Given the description of an element on the screen output the (x, y) to click on. 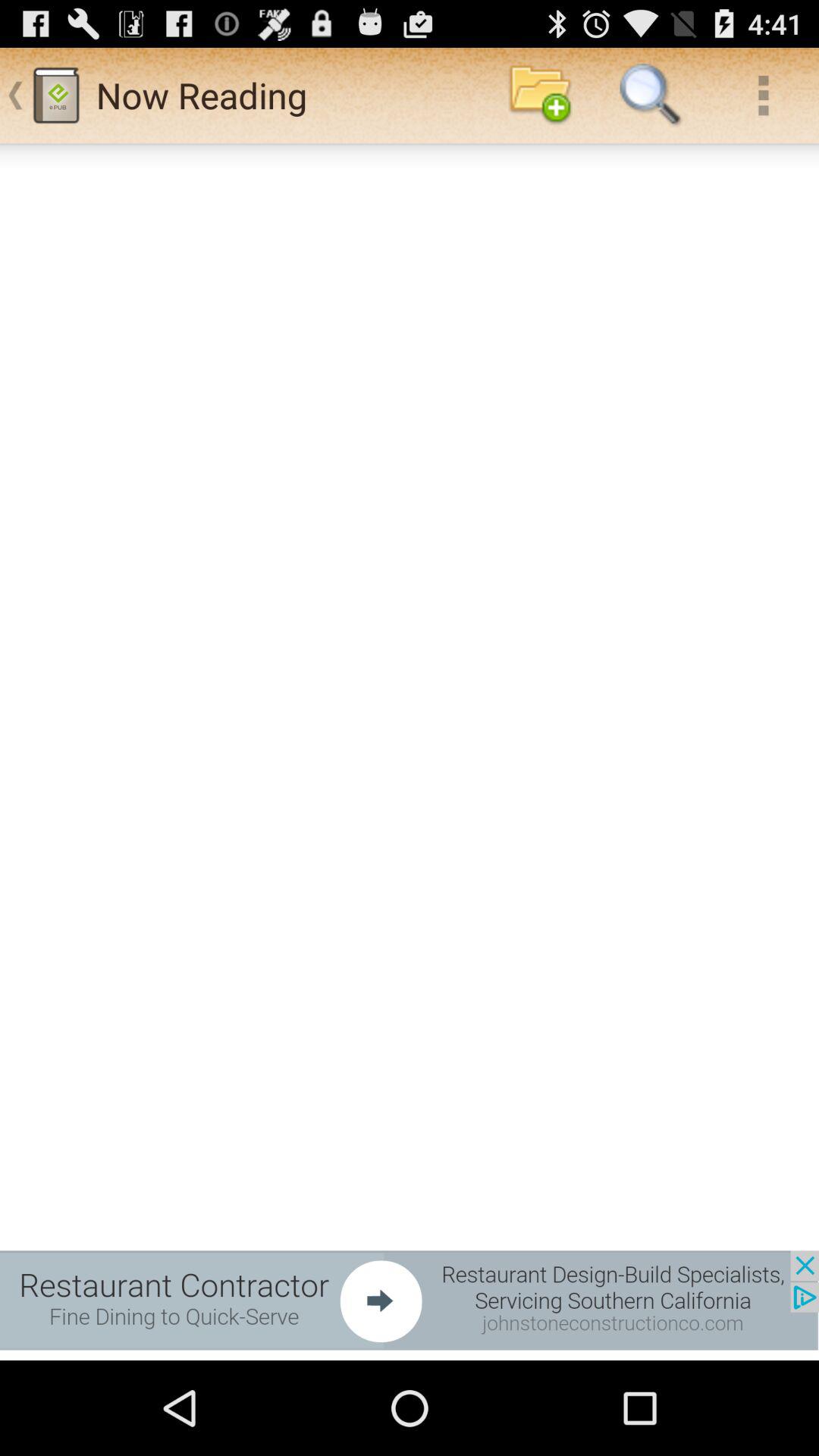
click advertisement (409, 1300)
